Given the description of an element on the screen output the (x, y) to click on. 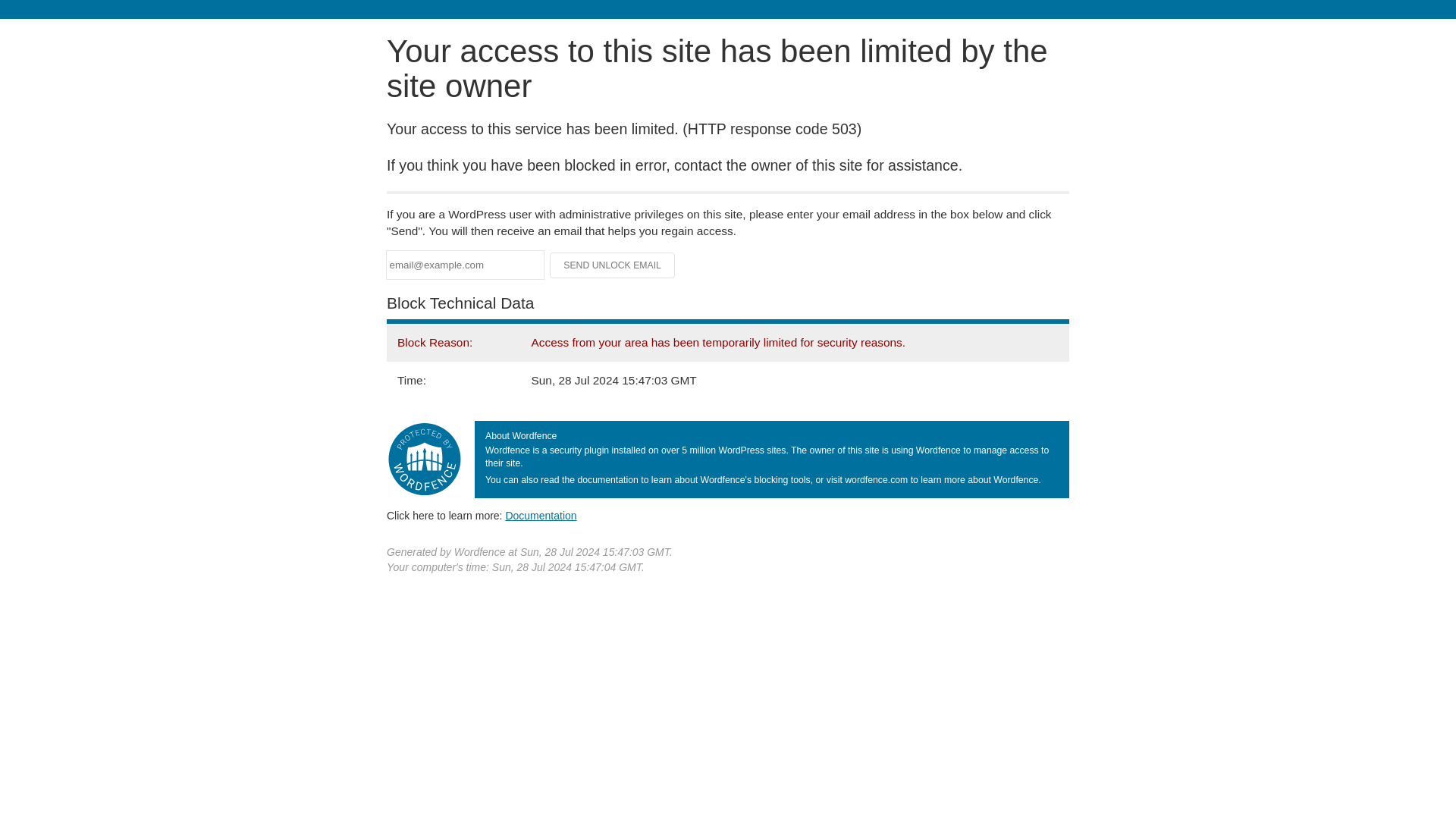
Send Unlock Email (612, 265)
Documentation (540, 515)
Send Unlock Email (612, 265)
